Given the description of an element on the screen output the (x, y) to click on. 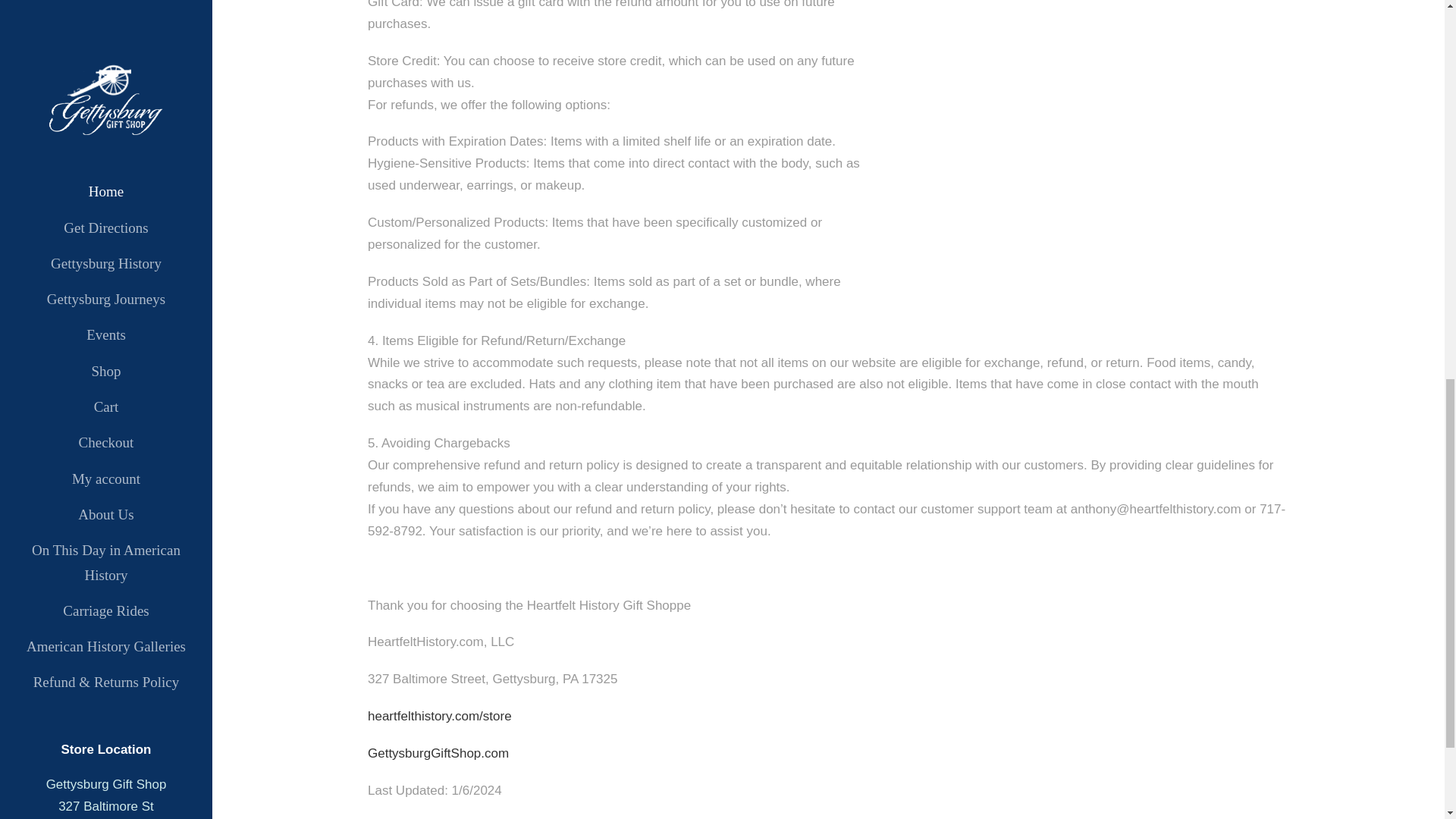
Shop Online at Heartfelt History (105, 89)
GettysburgGiftShop.com (438, 753)
Visit our eBay Store (106, 134)
